Given the description of an element on the screen output the (x, y) to click on. 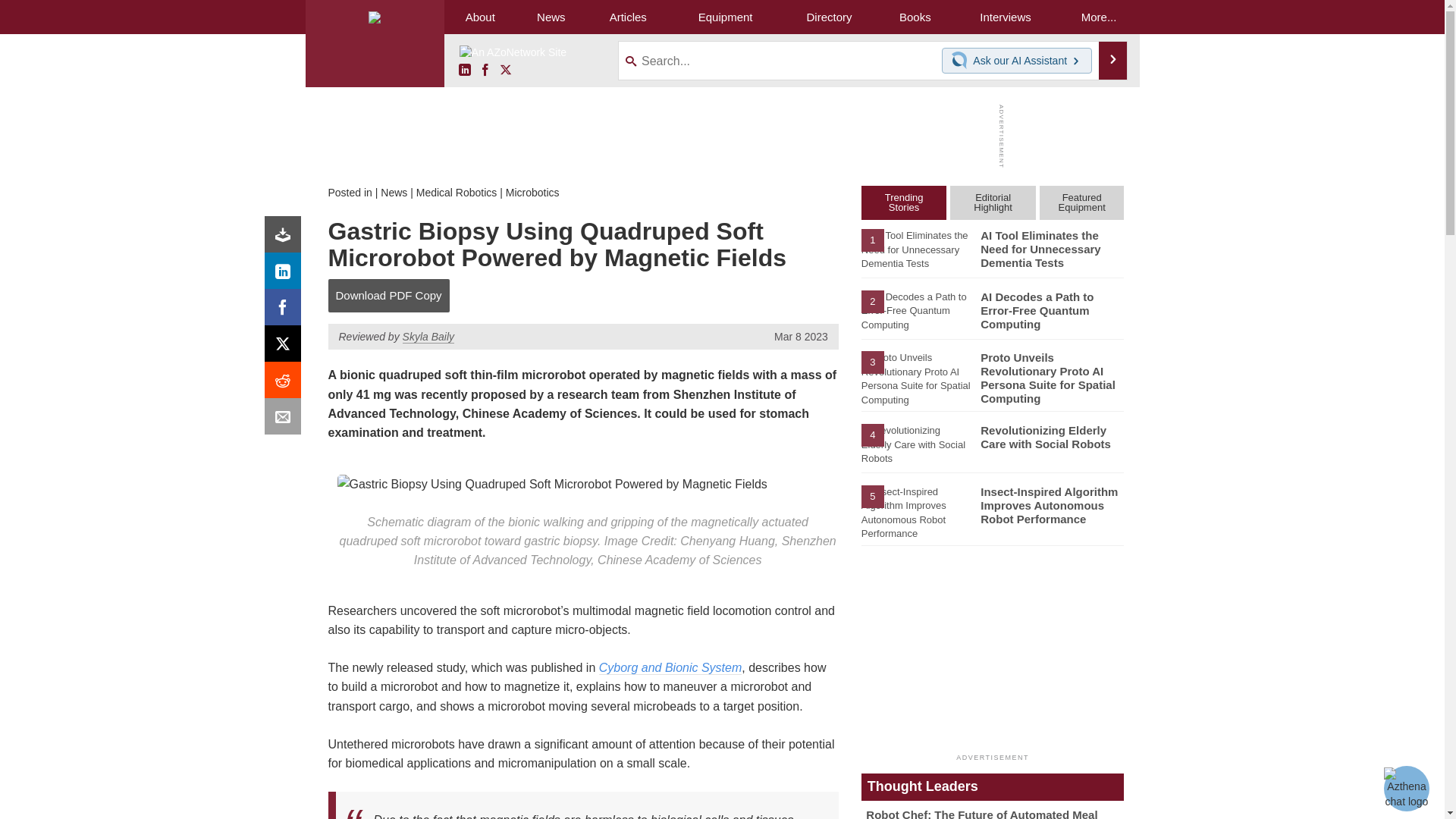
Interviews (1005, 17)
LinkedIn (285, 275)
Directory (828, 17)
Email (285, 420)
Articles (627, 17)
LinkedIn (464, 70)
News (551, 17)
Chat with our AI Assistant Ask our AI Assistant (1017, 60)
Microbotics (532, 192)
About (480, 17)
Facebook (285, 311)
Reddit (285, 384)
Equipment (724, 17)
Facebook (485, 70)
Medical Robotics (456, 192)
